Given the description of an element on the screen output the (x, y) to click on. 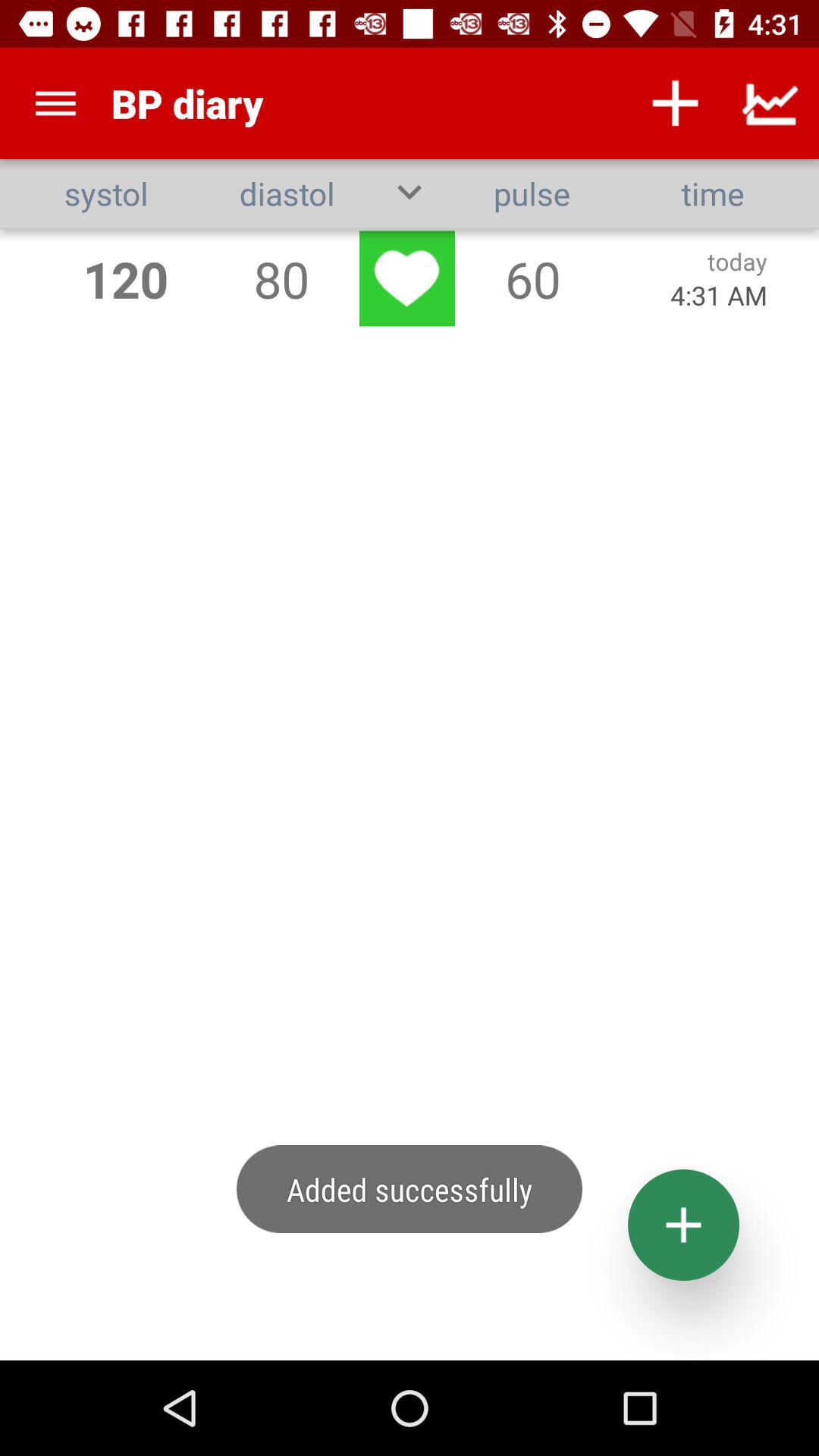
select the app above too few records (55, 103)
